Given the description of an element on the screen output the (x, y) to click on. 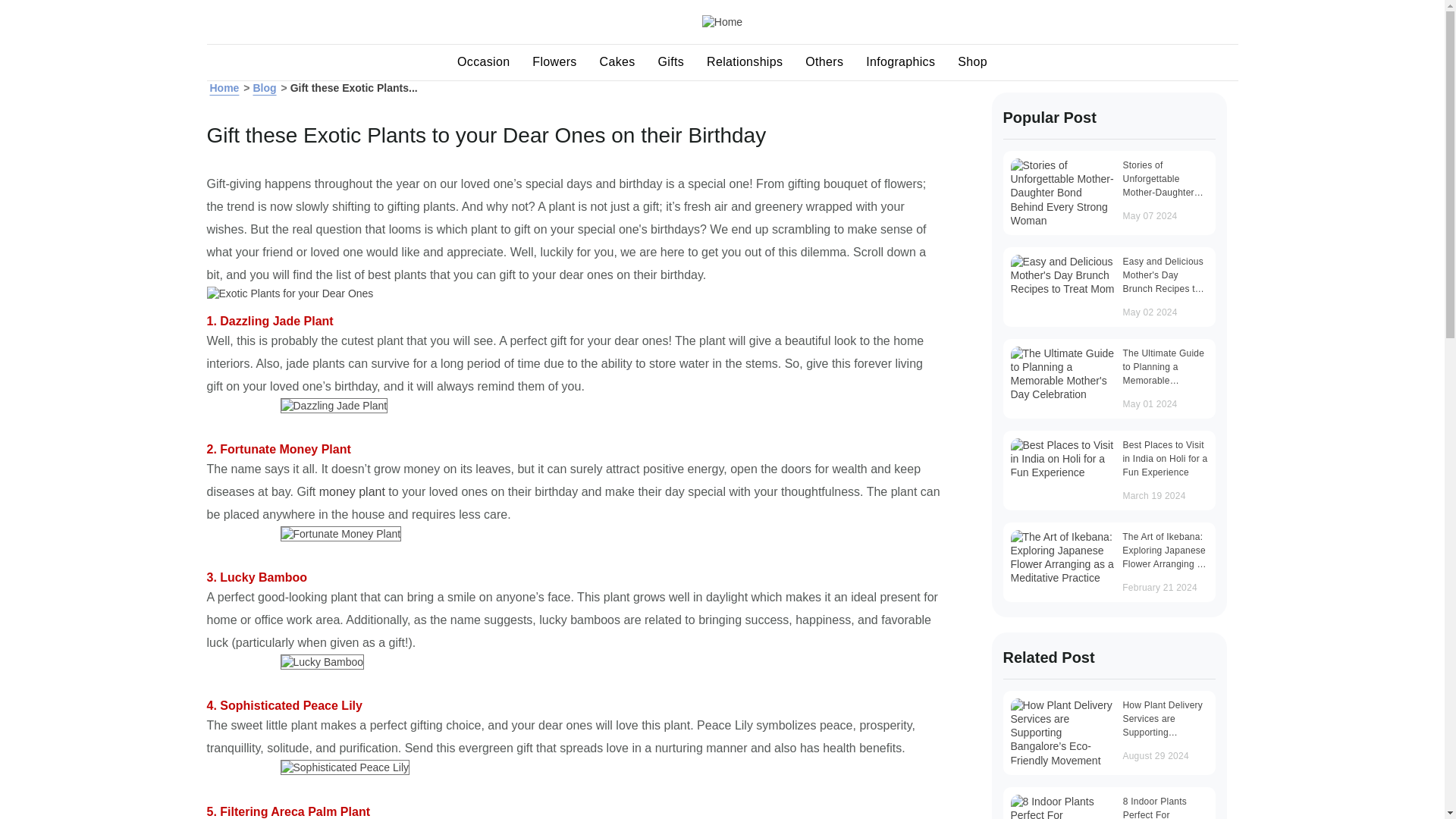
Easy and Delicious Mother's Day Brunch Recipes to Treat Mom (1062, 275)
Dazzling Jade Plant (334, 405)
Best Places to Visit in India on Holi for a Fun Experience (1062, 458)
Sophisticated Peace Lily (345, 767)
Blog (264, 87)
Home (224, 87)
Lucky Bamboo (323, 661)
Infographics (900, 62)
Blog (264, 87)
Exotic Plants for your Dear Ones (289, 293)
